Given the description of an element on the screen output the (x, y) to click on. 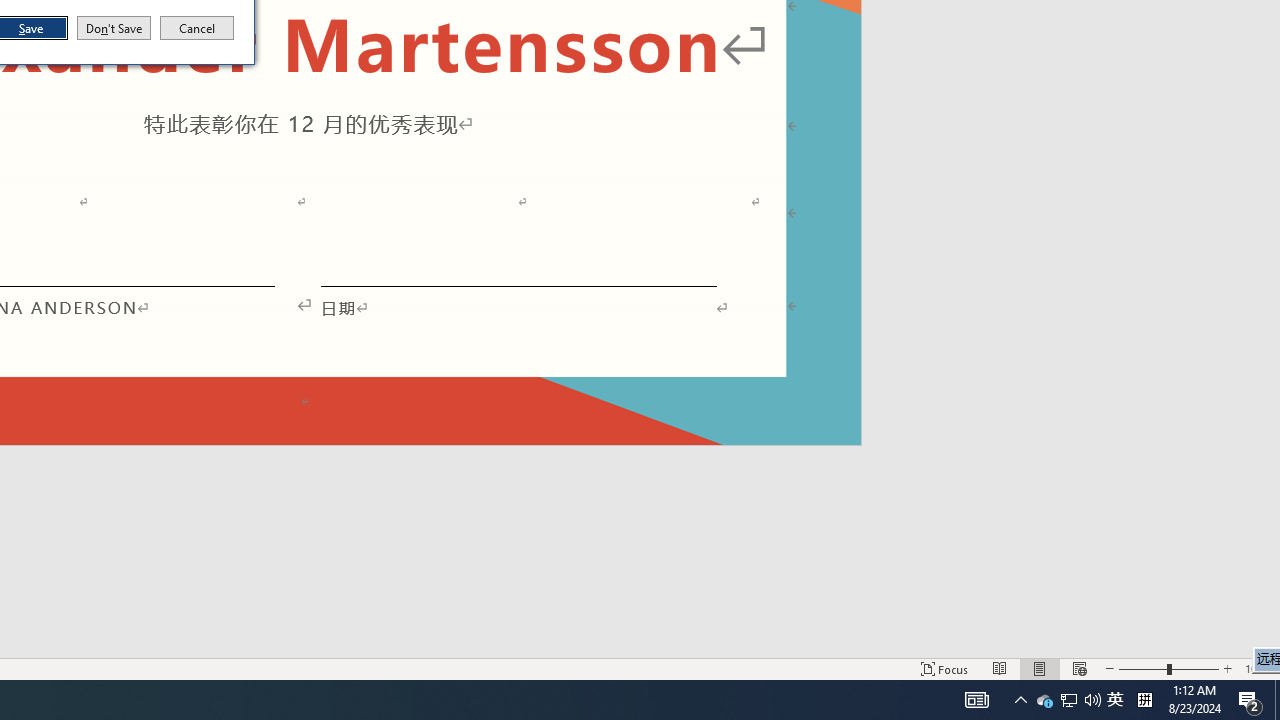
Show desktop (1277, 699)
Notification Chevron (1020, 699)
Print Layout (1039, 668)
Cancel (197, 27)
Web Layout (1079, 668)
Read Mode (1000, 668)
Tray Input Indicator - Chinese (Simplified, China) (1044, 699)
Zoom 100% (1144, 699)
Q2790: 100% (1258, 668)
Don't Save (1069, 699)
Zoom In (1115, 699)
